Given the description of an element on the screen output the (x, y) to click on. 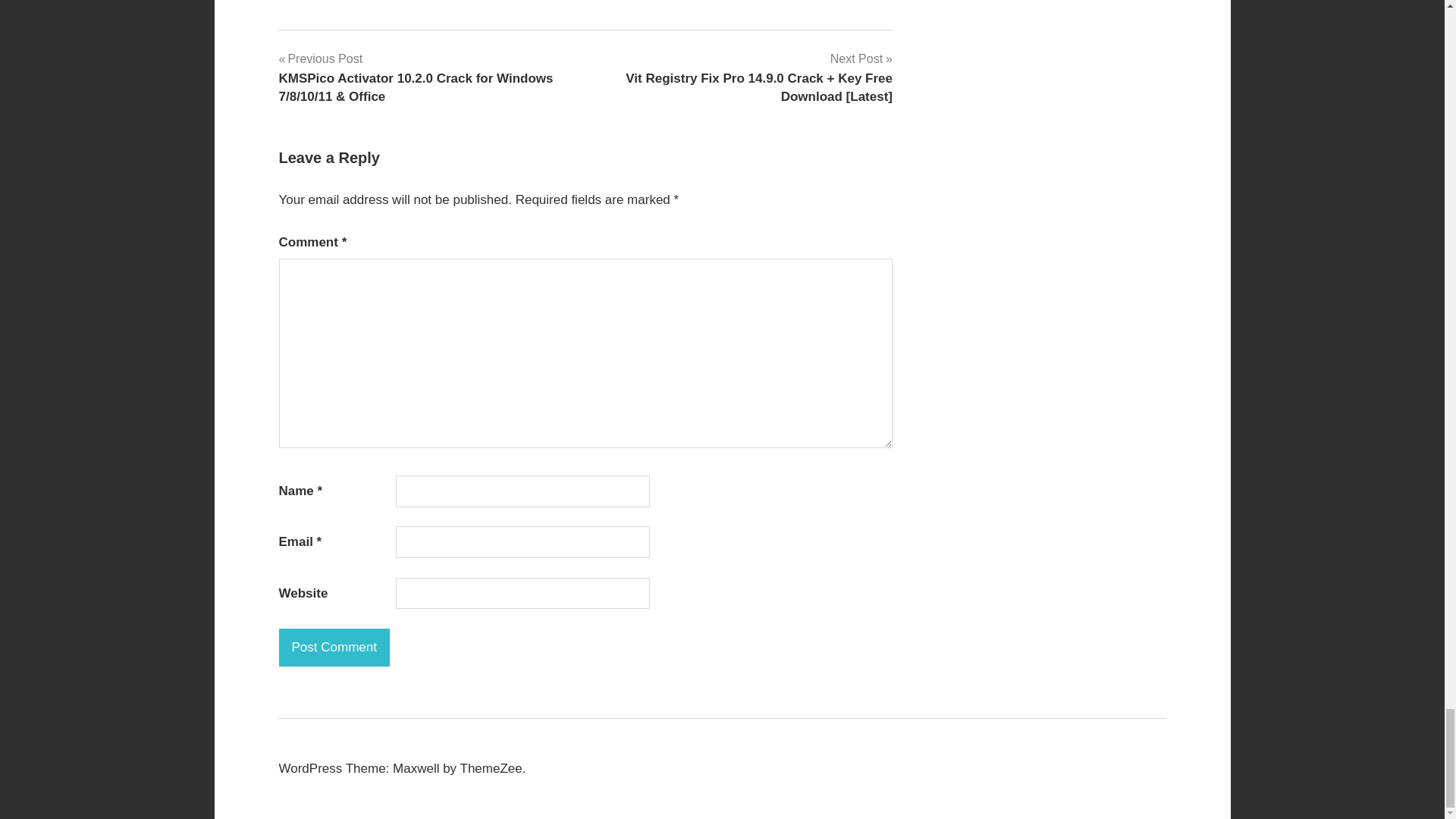
Post Comment (334, 647)
